Given the description of an element on the screen output the (x, y) to click on. 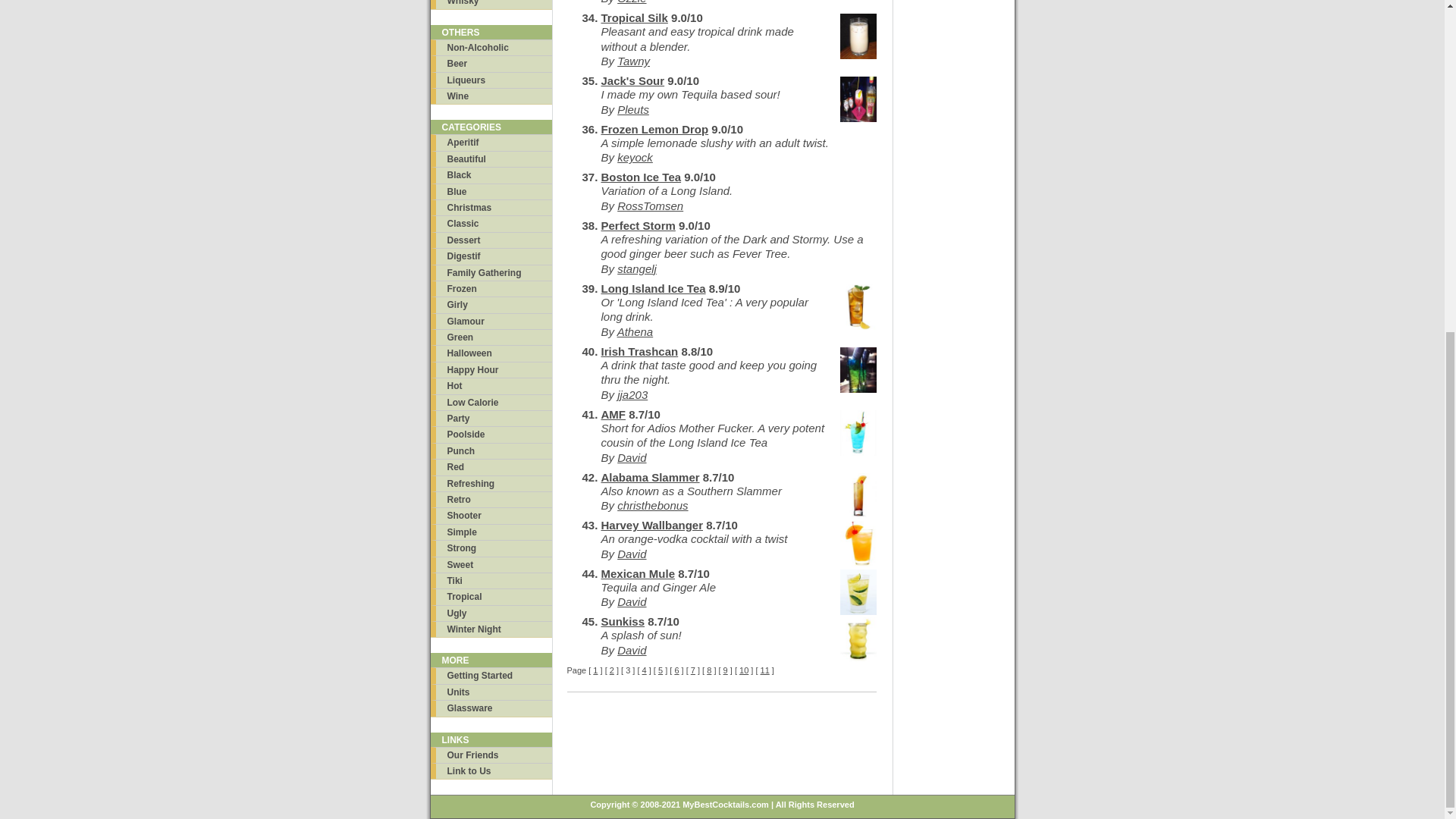
Aperitif (490, 141)
Non-Alcoholic (490, 47)
Wine (490, 95)
Black (490, 174)
Blue (490, 191)
Beer (490, 63)
Liqueurs (490, 79)
Whisky (490, 4)
Christmas (490, 207)
Beautiful (490, 158)
